Given the description of an element on the screen output the (x, y) to click on. 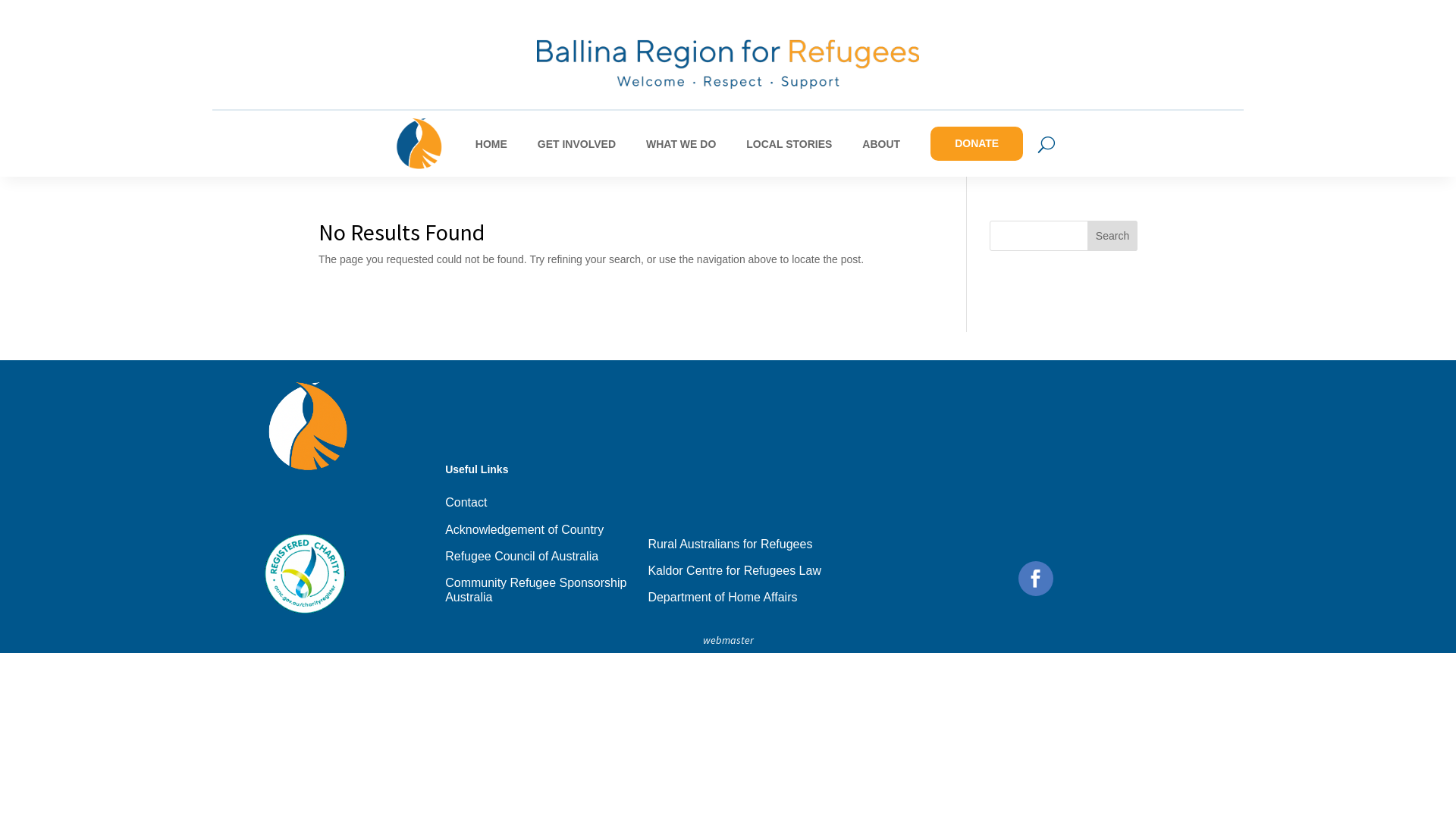
webmaster Element type: text (727, 639)
Refugee Council of Australia Element type: text (521, 559)
Department of Home Affairs Element type: text (722, 599)
DONATE Element type: text (976, 143)
logo-white Element type: hover (307, 426)
Search Element type: text (1112, 235)
WHAT WE DO Element type: text (680, 143)
GET INVOLVED Element type: text (576, 143)
Rural Australians for Refugees Element type: text (729, 546)
ABOUT Element type: text (881, 143)
LOCAL STORIES Element type: text (788, 143)
Community Refugee Sponsorship Australia Element type: text (546, 592)
BR4R_Logo-no-icon Element type: hover (727, 61)
Follow on Facebook Element type: hover (1035, 578)
Registered Charity Icon Element type: hover (304, 574)
Kaldor Centre for Refugees Law Element type: text (734, 573)
Contact Element type: text (465, 505)
Acknowledgement of Country Element type: text (524, 532)
HOME Element type: text (491, 143)
